Given the description of an element on the screen output the (x, y) to click on. 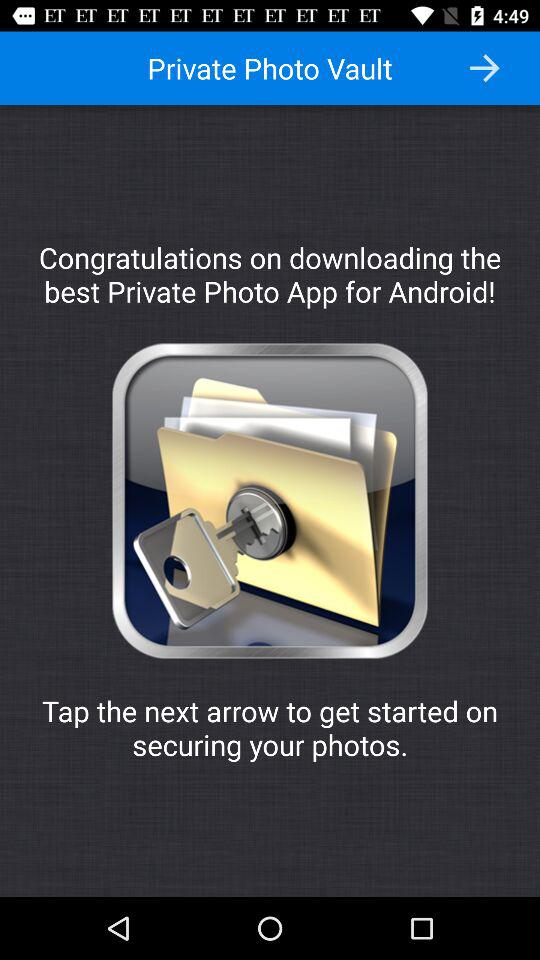
open the item next to the private photo vault (484, 68)
